Given the description of an element on the screen output the (x, y) to click on. 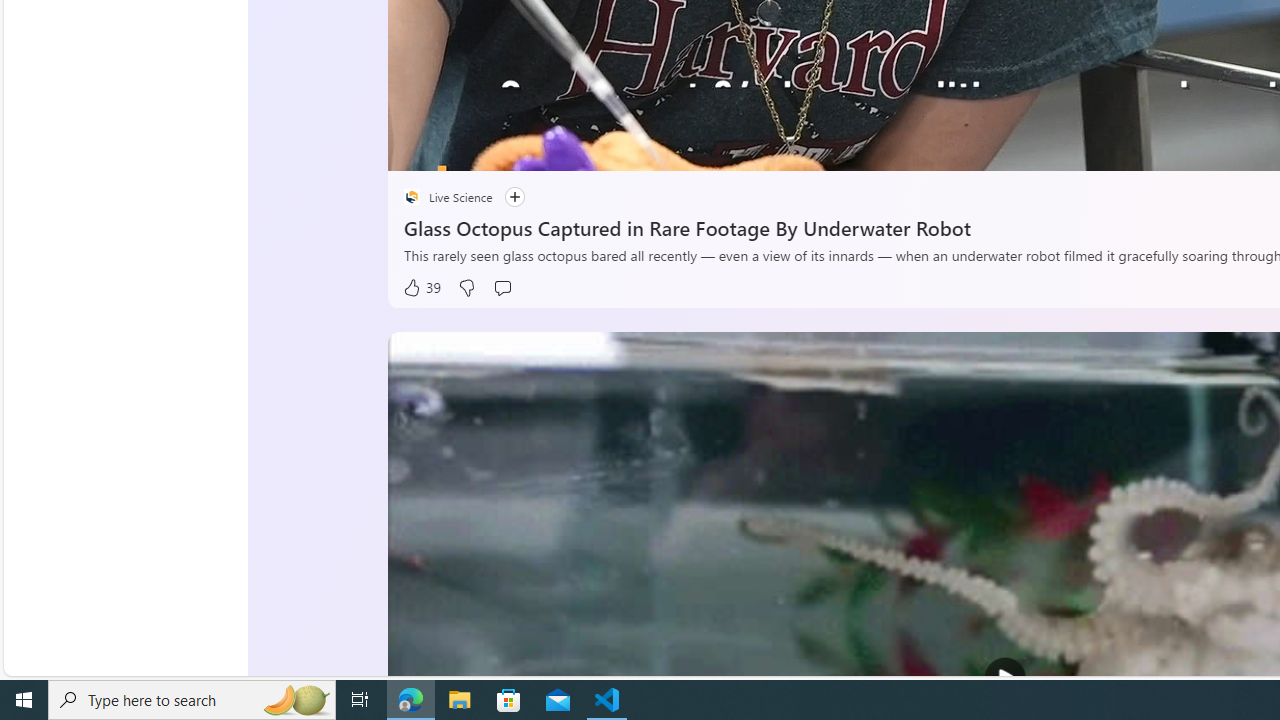
39 Like (422, 288)
Play Video (1005, 678)
Seek Back (457, 148)
Seek Forward (497, 148)
Pause (417, 148)
placeholder (411, 196)
